Given the description of an element on the screen output the (x, y) to click on. 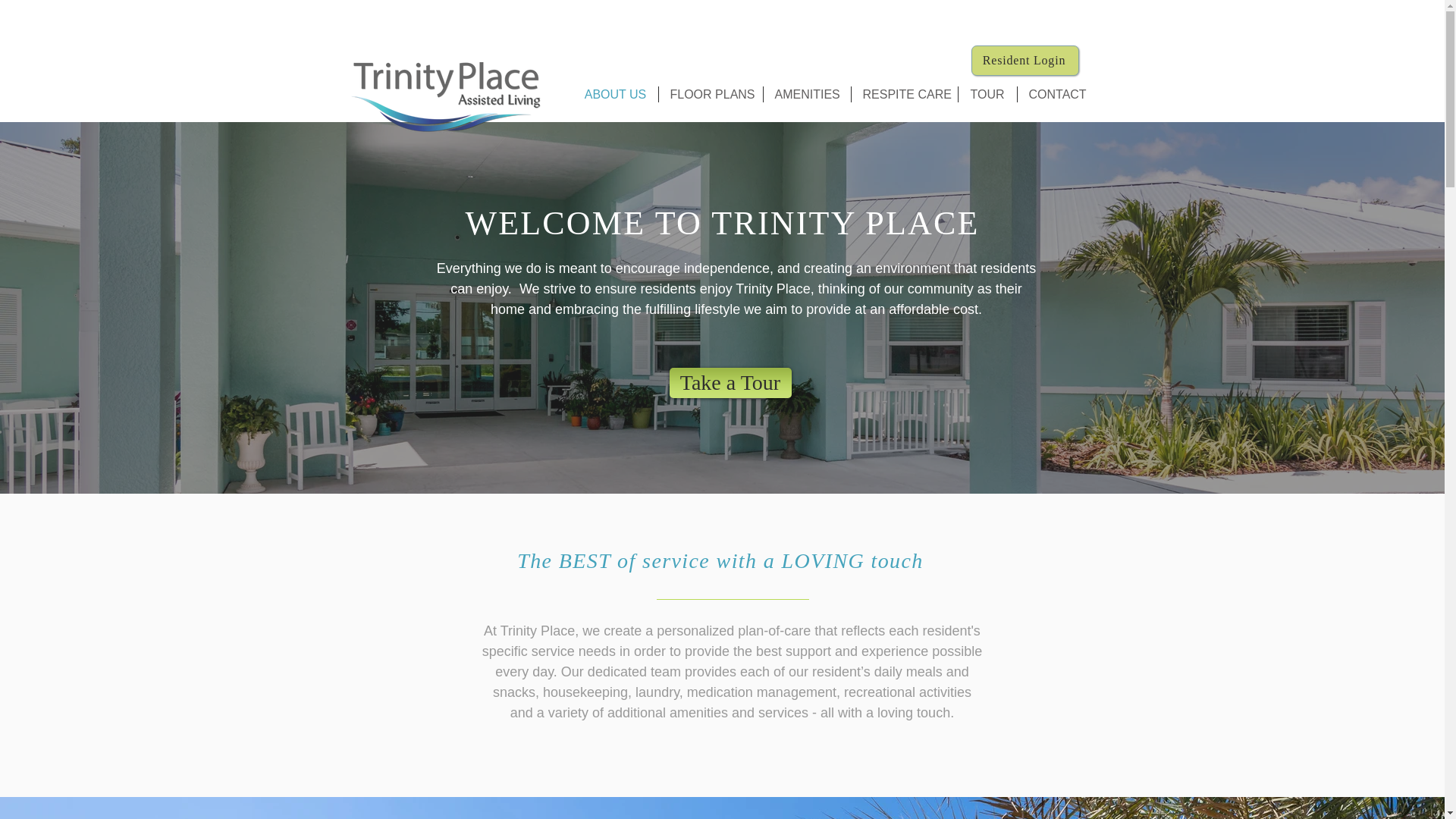
ABOUT US (615, 94)
TOUR (987, 94)
Resident Login (1024, 60)
CONTACT (1055, 94)
FLOOR PLANS (709, 94)
AMENITIES (806, 94)
RESPITE CARE (903, 94)
Take a Tour (729, 382)
